Given the description of an element on the screen output the (x, y) to click on. 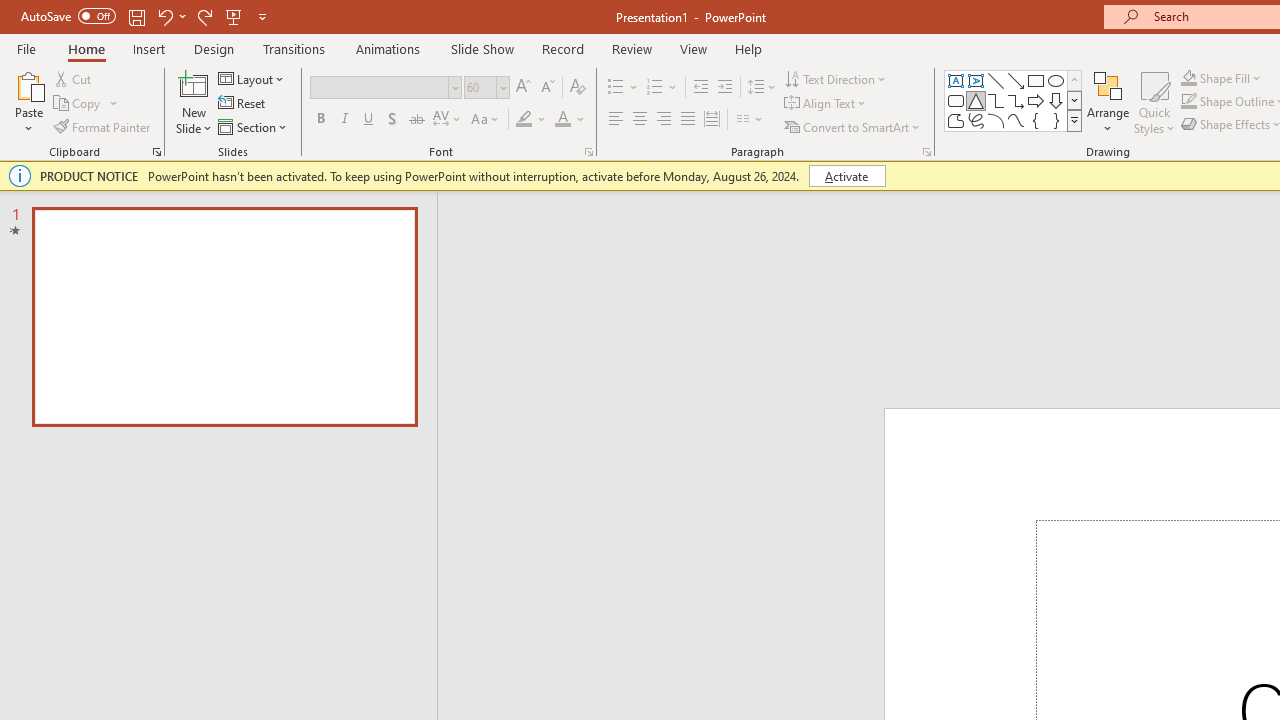
Strikethrough (416, 119)
Quick Styles (1154, 102)
Format Painter (103, 126)
Font Color Red (562, 119)
Isosceles Triangle (975, 100)
Reset (243, 103)
Left Brace (1035, 120)
Justify (687, 119)
Text Highlight Color Yellow (524, 119)
